Given the description of an element on the screen output the (x, y) to click on. 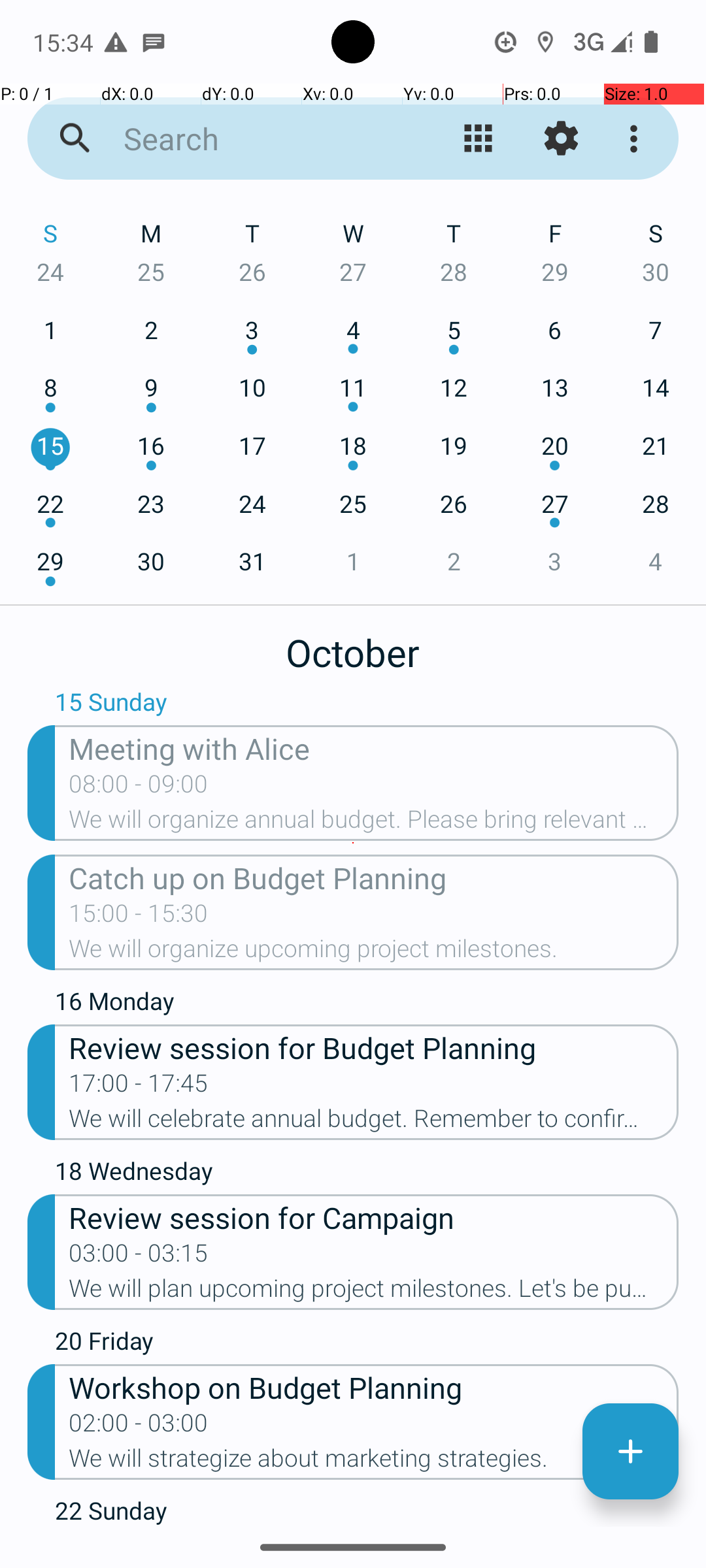
15 Sunday Element type: android.widget.TextView (366, 704)
16 Monday Element type: android.widget.TextView (366, 1003)
18 Wednesday Element type: android.widget.TextView (366, 1173)
20 Friday Element type: android.widget.TextView (366, 1343)
22 Sunday Element type: android.widget.TextView (366, 1509)
Meeting with Alice Element type: android.widget.TextView (373, 747)
08:00 - 09:00 Element type: android.widget.TextView (137, 787)
We will organize annual budget. Please bring relevant documents. Element type: android.widget.TextView (373, 822)
Catch up on Budget Planning Element type: android.widget.TextView (373, 876)
15:00 - 15:30 Element type: android.widget.TextView (137, 916)
We will organize upcoming project milestones. Element type: android.widget.TextView (373, 952)
Review session for Budget Planning Element type: android.widget.TextView (373, 1046)
17:00 - 17:45 Element type: android.widget.TextView (137, 1086)
We will celebrate annual budget. Remember to confirm attendance. Element type: android.widget.TextView (373, 1122)
Review session for Campaign Element type: android.widget.TextView (373, 1216)
03:00 - 03:15 Element type: android.widget.TextView (137, 1256)
We will plan upcoming project milestones. Let's be punctual. Element type: android.widget.TextView (373, 1291)
Workshop on Budget Planning Element type: android.widget.TextView (373, 1386)
02:00 - 03:00 Element type: android.widget.TextView (137, 1426)
We will strategize about marketing strategies. Element type: android.widget.TextView (373, 1461)
